Given the description of an element on the screen output the (x, y) to click on. 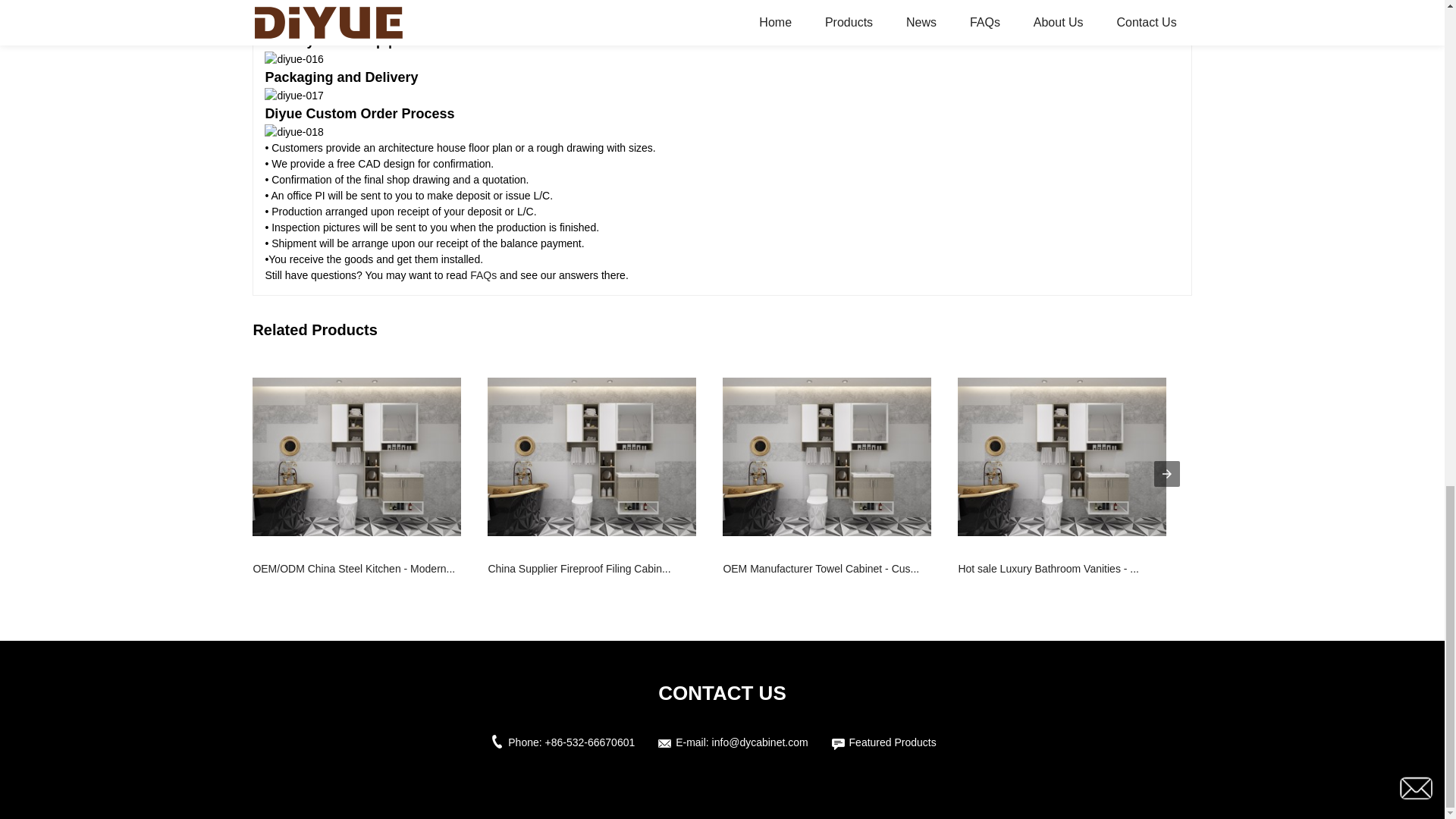
FAQs (483, 275)
New Arrival China Bathroom Cabinet Fu... (1296, 578)
China Supplier Fireproof Filing Cabin... (591, 578)
Featured Products (892, 742)
Hot sale Luxury Bathroom Vanities - ... (1062, 578)
OEM Manufacturer Towel Cabinet - Cus... (826, 578)
Next item in carousel (1166, 473)
